Given the description of an element on the screen output the (x, y) to click on. 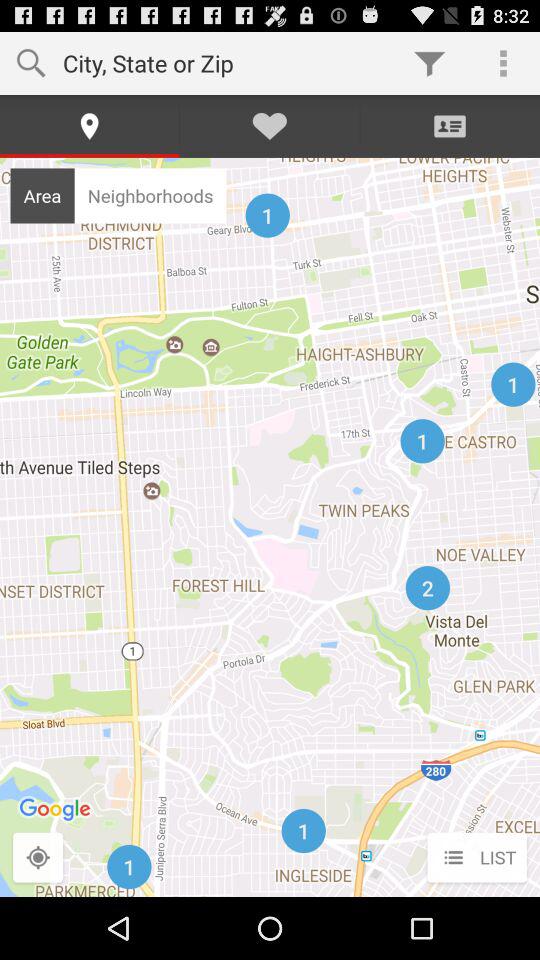
turn on item at the bottom right corner (476, 858)
